Given the description of an element on the screen output the (x, y) to click on. 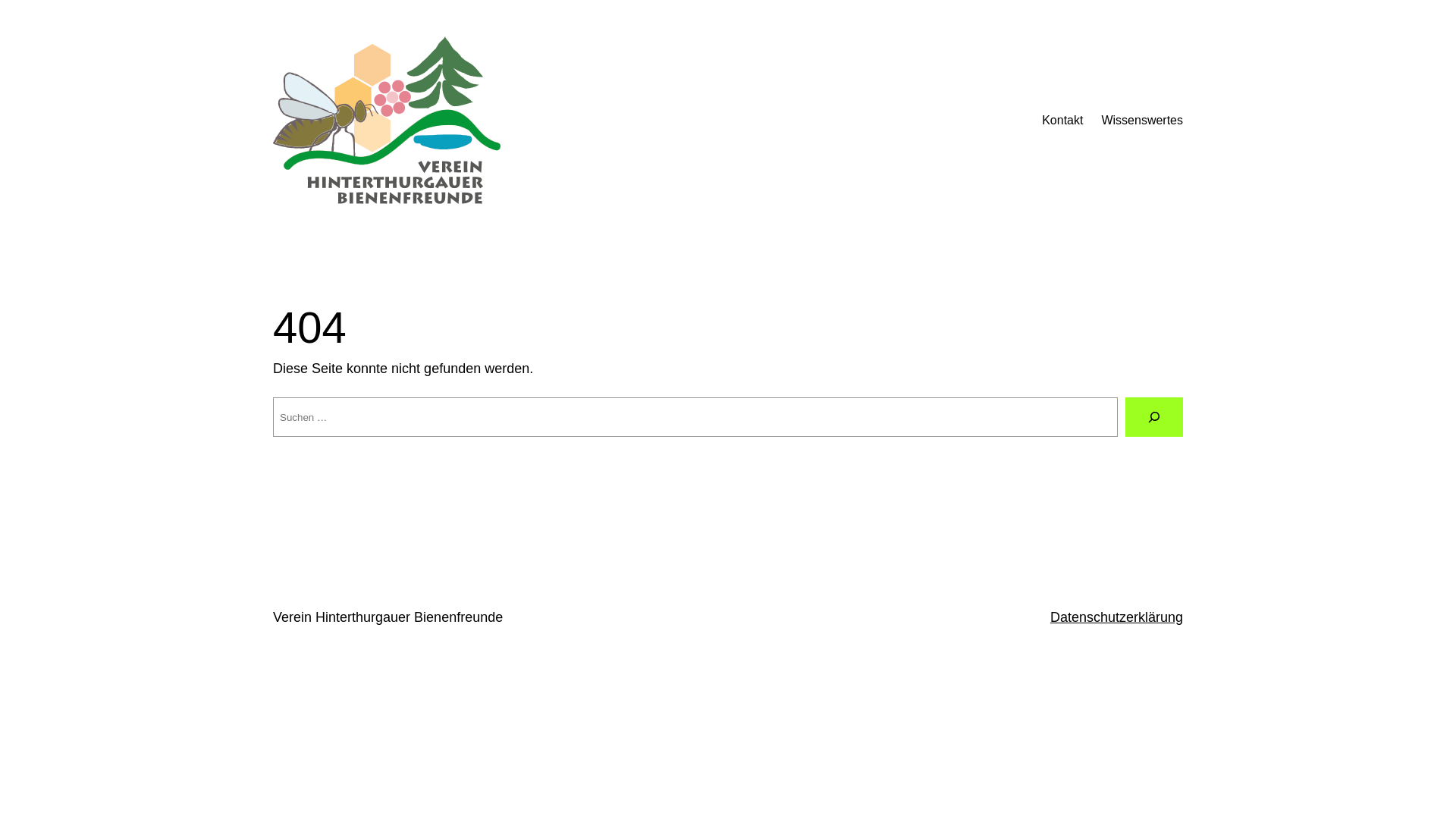
Verein Hinterthurgauer Bienenfreunde Element type: text (387, 616)
Kontakt Element type: text (1061, 120)
Wissenswertes Element type: text (1142, 120)
